Given the description of an element on the screen output the (x, y) to click on. 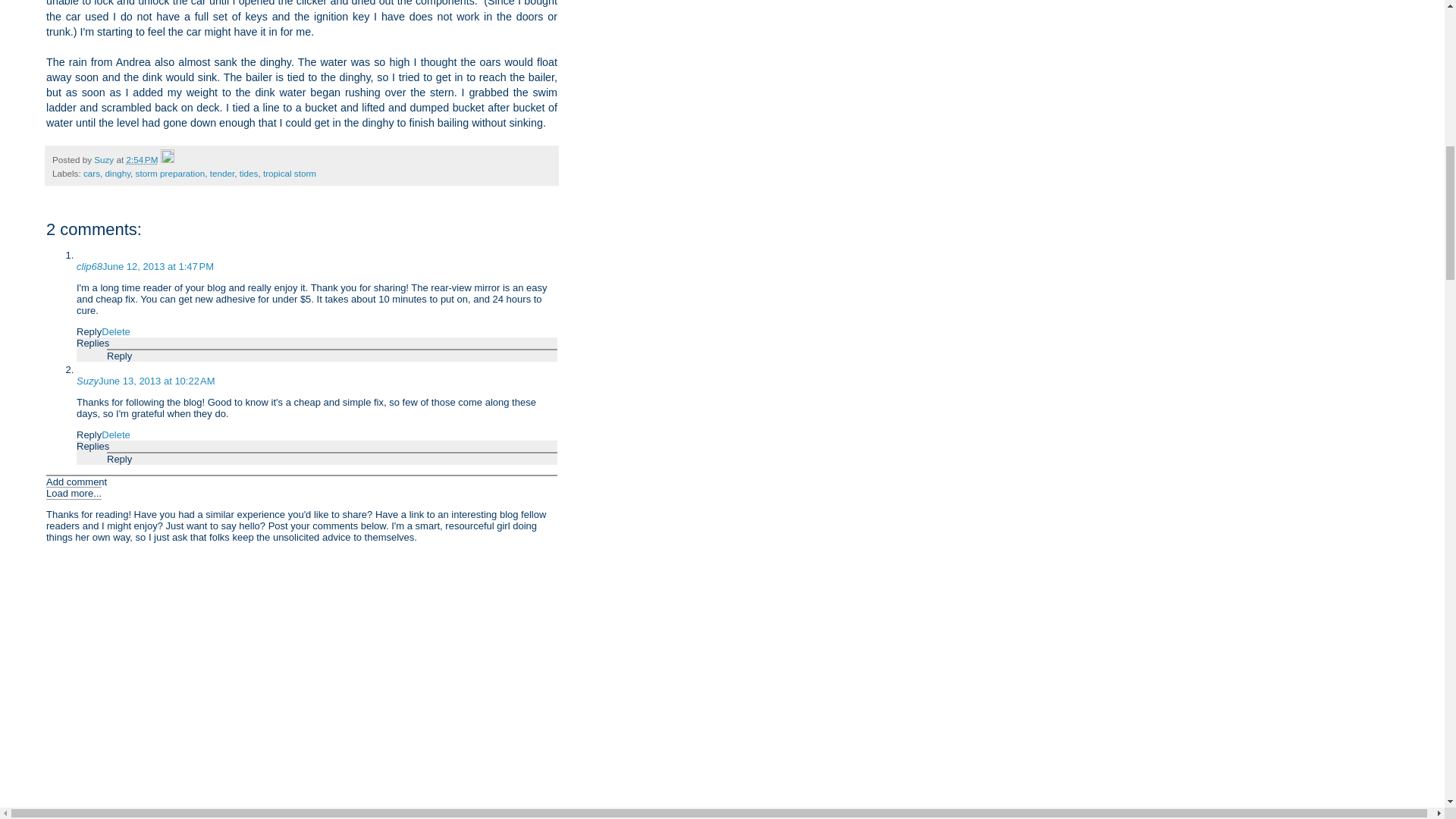
Replies (93, 446)
Edit Post (167, 159)
Replies (93, 342)
Reply (119, 355)
dinghy (117, 173)
tropical storm (289, 173)
permanent link (141, 159)
Add comment (76, 481)
clip68 (89, 266)
Reply (89, 331)
Suzy (105, 159)
cars (91, 173)
Load more... (73, 492)
tides (249, 173)
